Given the description of an element on the screen output the (x, y) to click on. 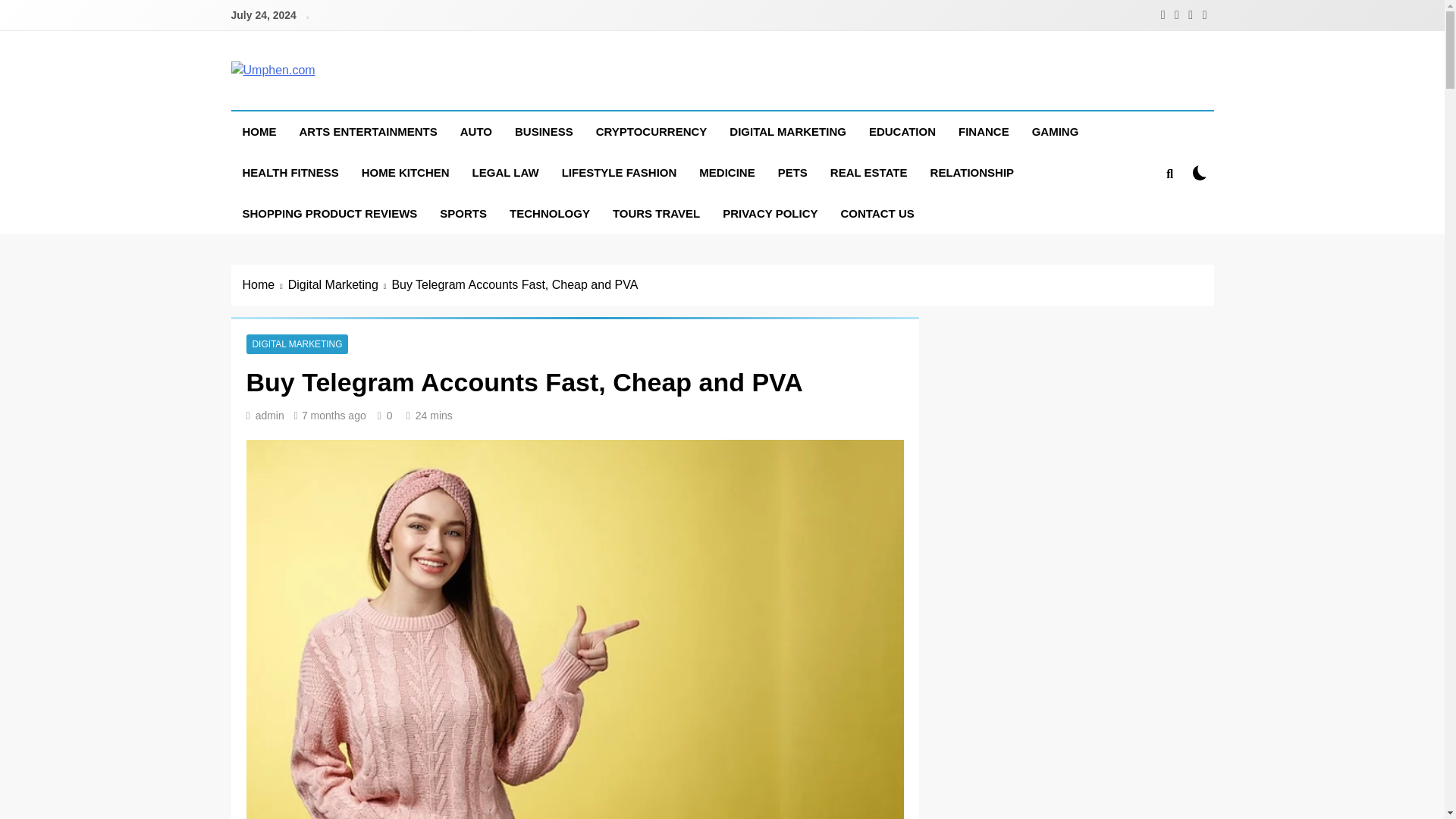
RELATIONSHIP (972, 172)
HOME (258, 131)
TOURS TRAVEL (656, 213)
LIFESTYLE FASHION (619, 172)
CONTACT US (877, 213)
HEALTH FITNESS (289, 172)
SHOPPING PRODUCT REVIEWS (329, 213)
LEGAL LAW (505, 172)
ARTS ENTERTAINMENTS (368, 131)
Umphen.Com (336, 95)
Digital Marketing (339, 285)
PRIVACY POLICY (769, 213)
TECHNOLOGY (549, 213)
GAMING (1055, 131)
CRYPTOCURRENCY (652, 131)
